Given the description of an element on the screen output the (x, y) to click on. 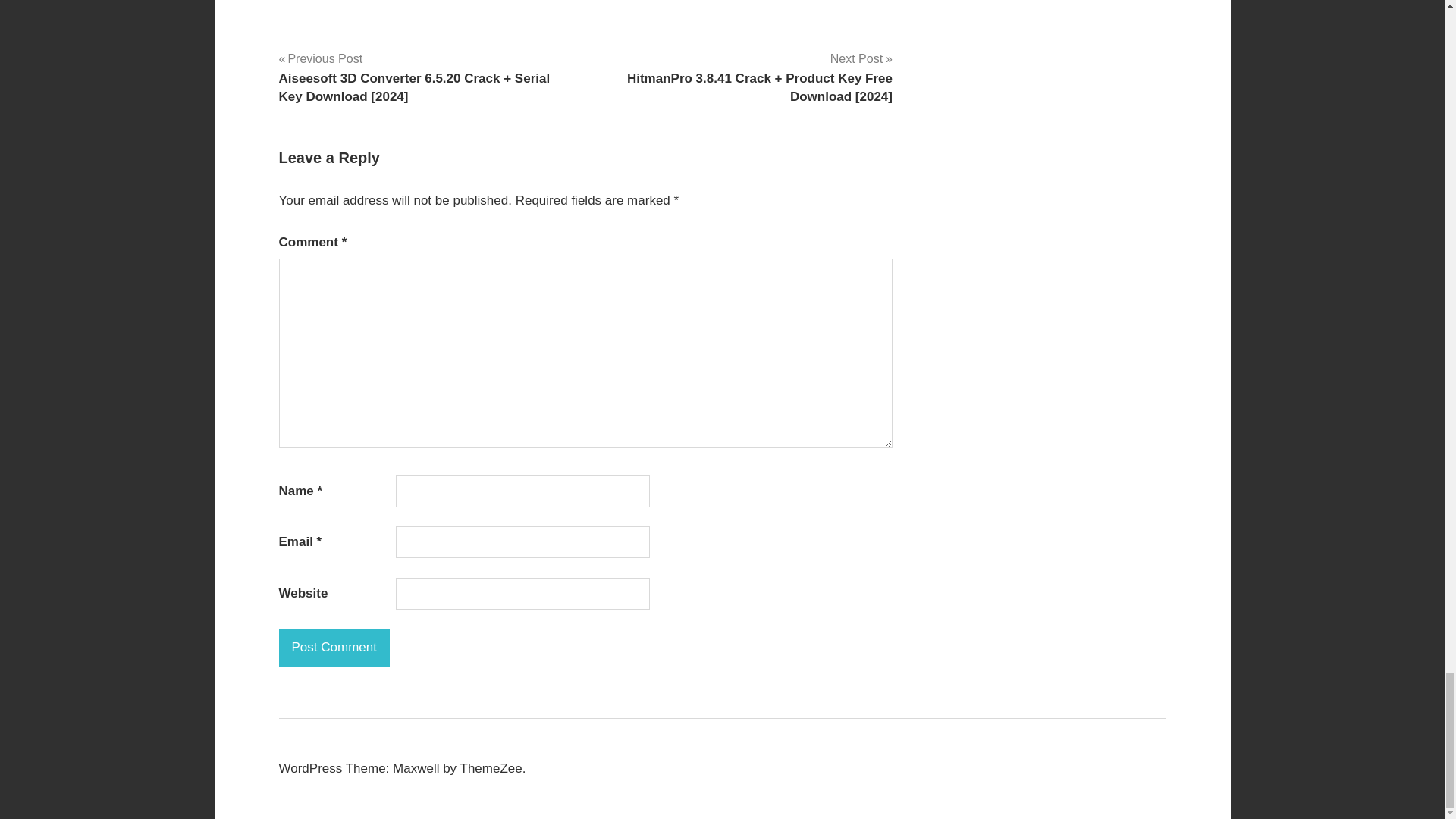
Post Comment (334, 647)
